Given the description of an element on the screen output the (x, y) to click on. 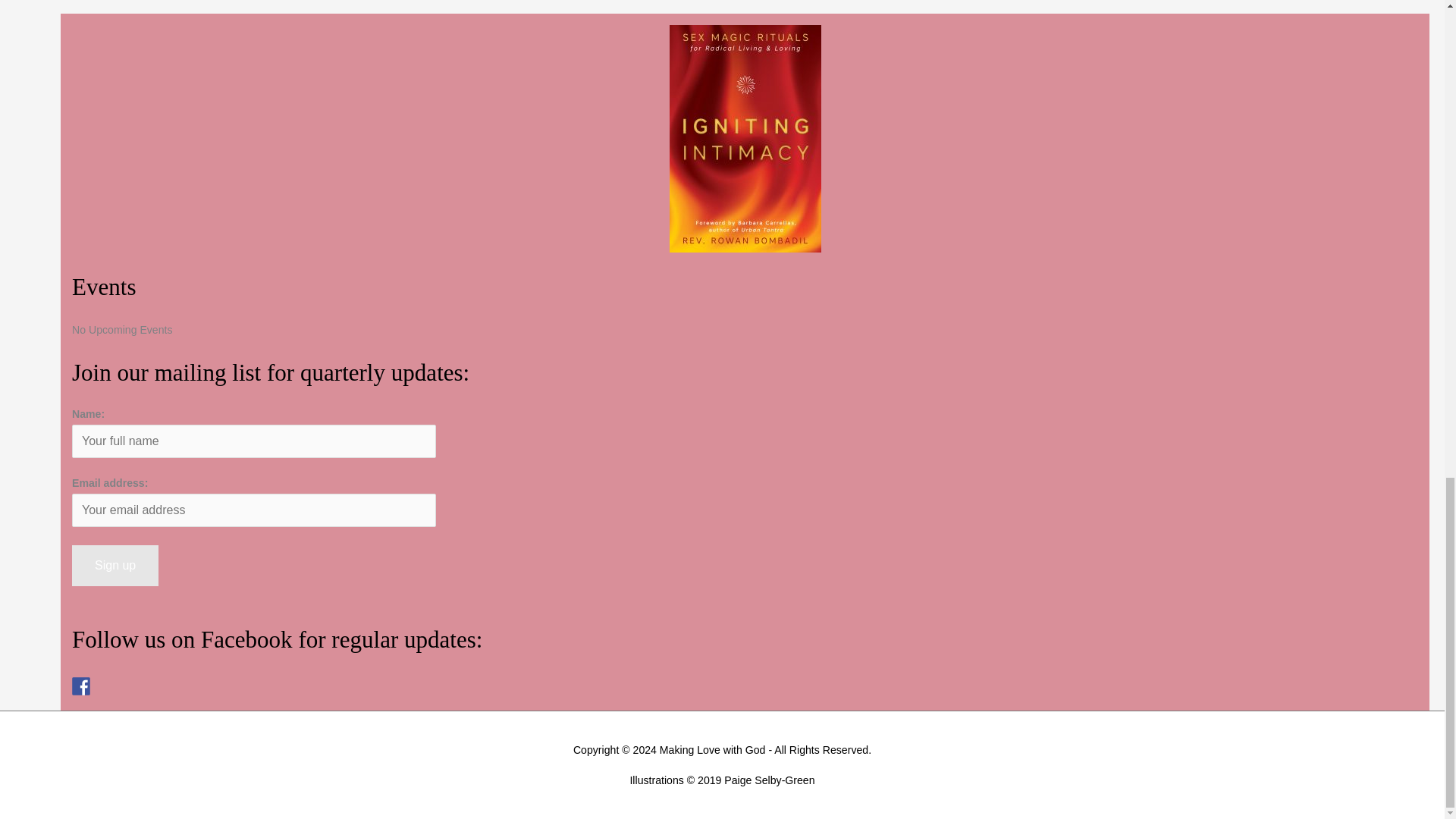
Sign up (114, 565)
Follow us on Facebook (80, 686)
Sign up (114, 565)
